Given the description of an element on the screen output the (x, y) to click on. 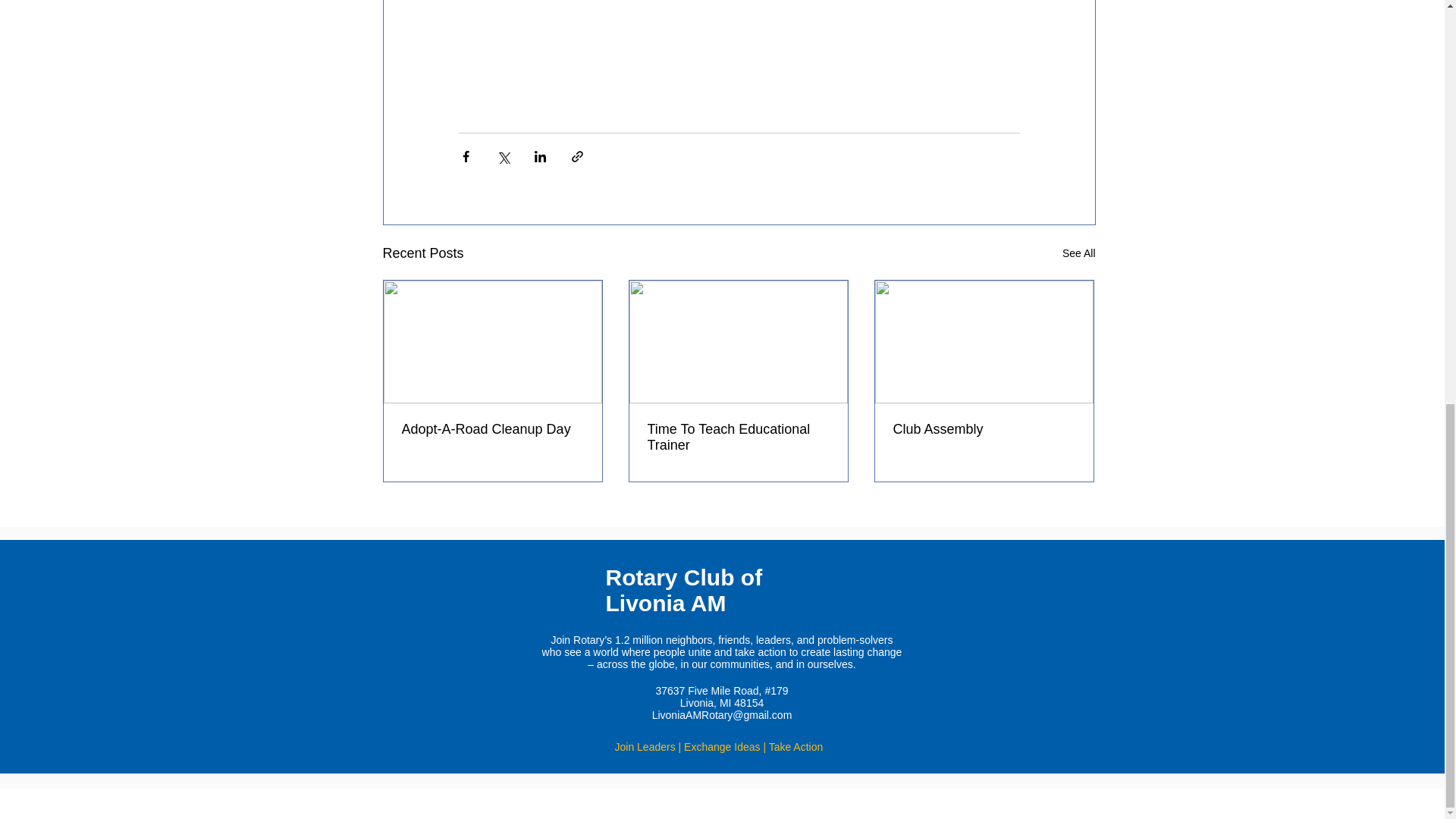
Club Assembly (984, 429)
See All (1079, 253)
Adopt-A-Road Cleanup Day (492, 429)
Time To Teach Educational Trainer (738, 437)
